Given the description of an element on the screen output the (x, y) to click on. 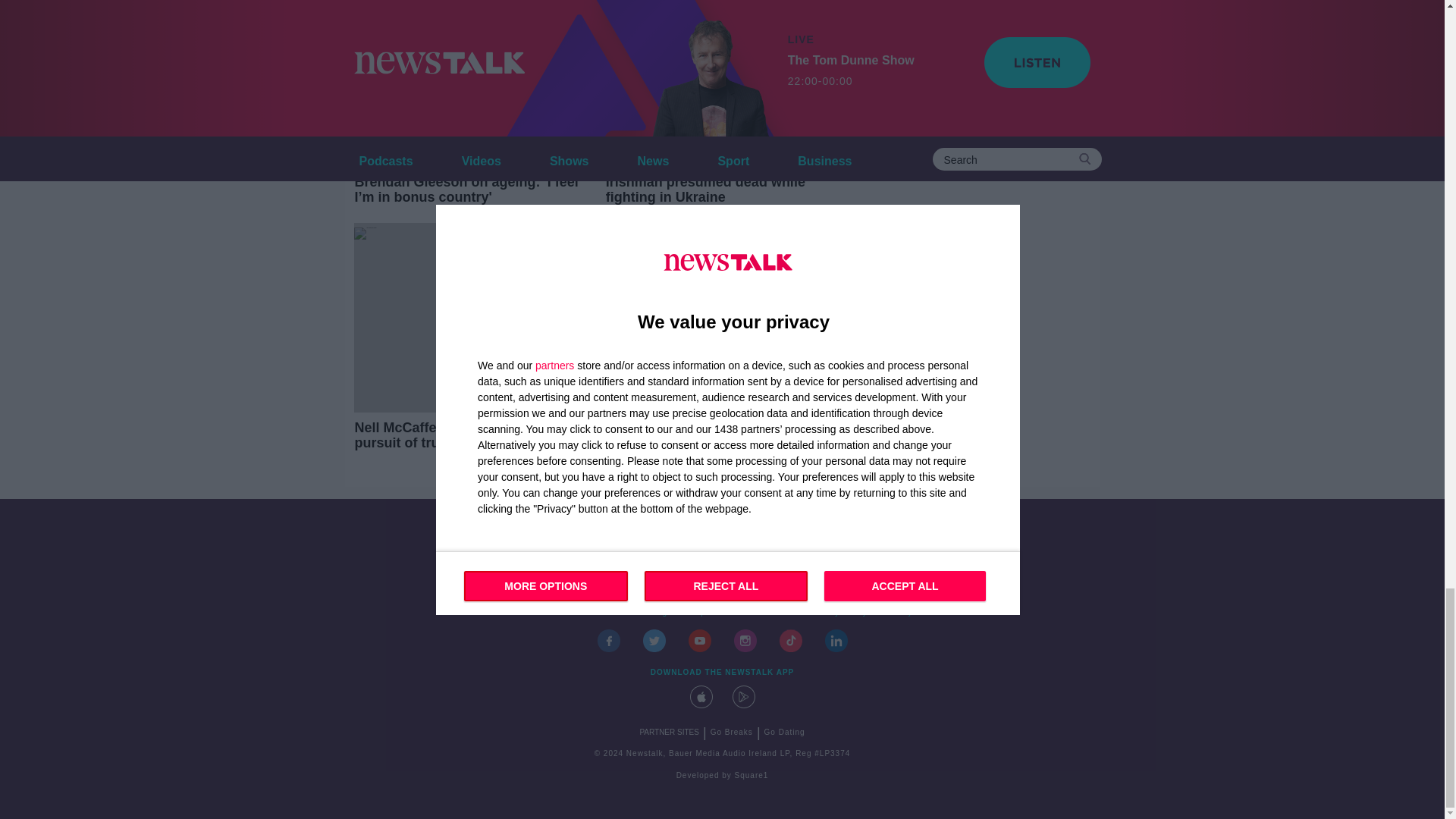
contact (547, 612)
site terms (772, 612)
Privacy Policy (838, 612)
competitions (708, 612)
advertising (644, 612)
events (592, 612)
Privacy (897, 612)
